Given the description of an element on the screen output the (x, y) to click on. 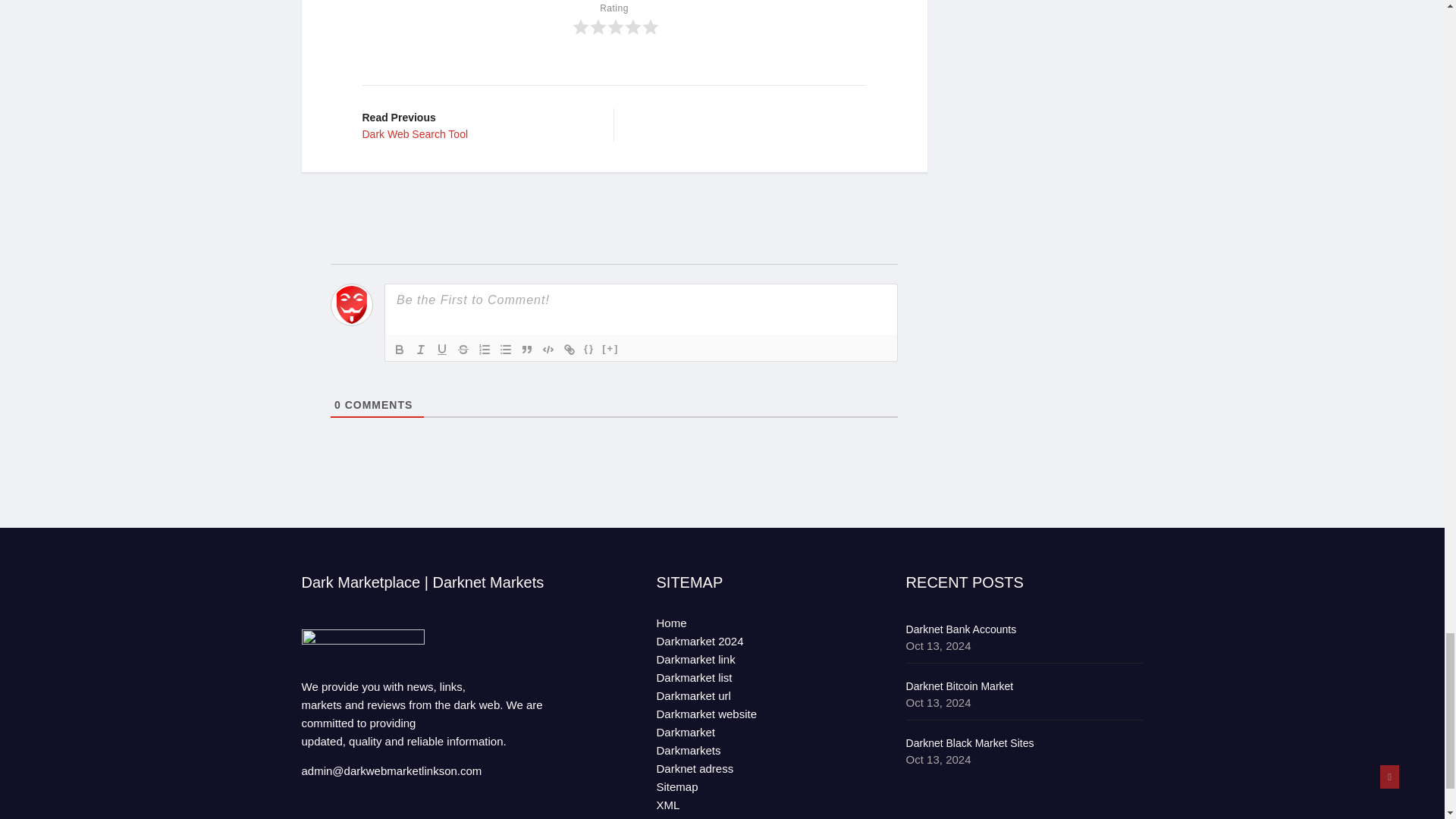
Ordered List (484, 349)
Italic (476, 124)
Blockquote (420, 349)
Underline (526, 349)
Code Block (441, 349)
Link (548, 349)
Unordered List (569, 349)
Bold (505, 349)
Spoiler (399, 349)
